Given the description of an element on the screen output the (x, y) to click on. 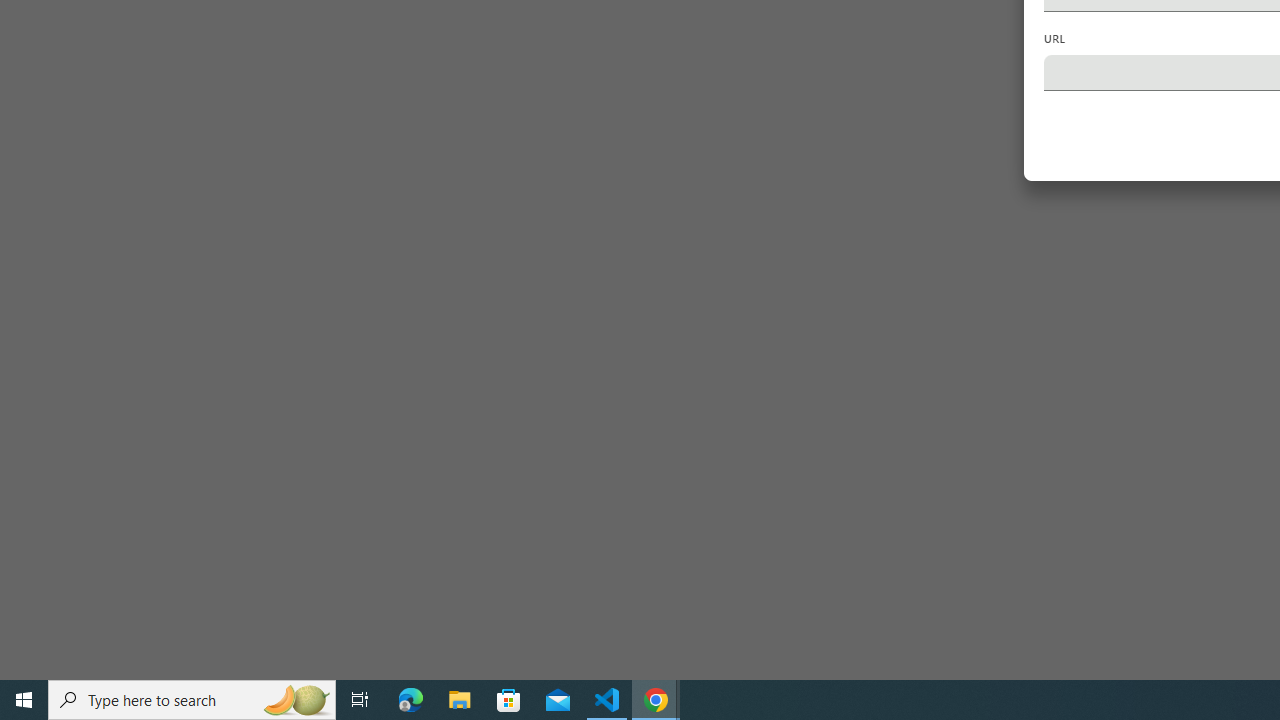
Task View (359, 699)
Google Chrome - 2 running windows (656, 699)
Start (24, 699)
Search highlights icon opens search home window (295, 699)
Visual Studio Code - 1 running window (607, 699)
Microsoft Edge (411, 699)
Type here to search (191, 699)
Microsoft Store (509, 699)
File Explorer (460, 699)
